Given the description of an element on the screen output the (x, y) to click on. 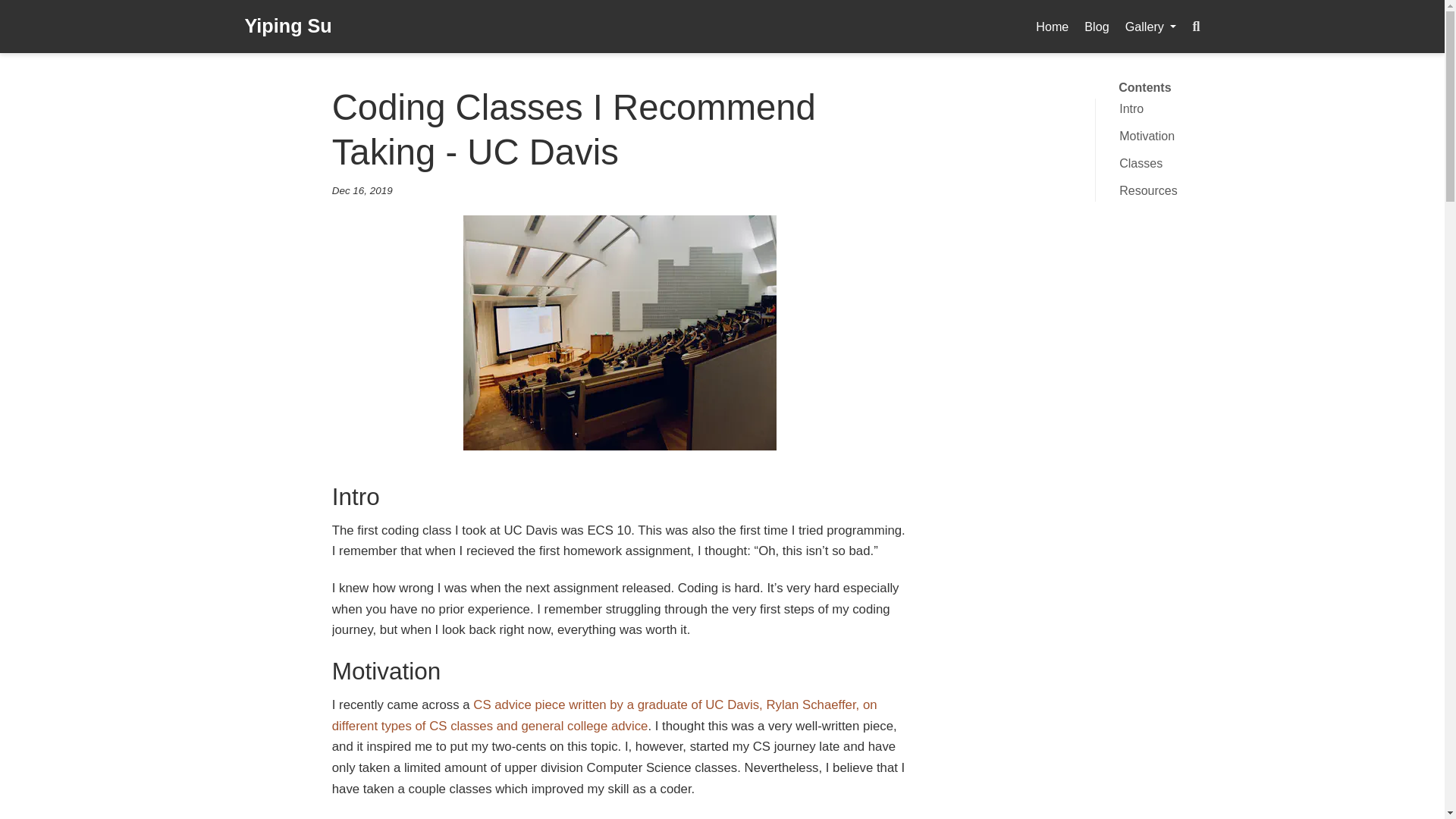
Contents (1144, 87)
Intro (1264, 108)
Resources (1264, 190)
Gallery (1150, 25)
Home (1052, 25)
Yiping Su (287, 26)
Blog (1096, 25)
Motivation (1264, 136)
Classes (1264, 163)
